Given the description of an element on the screen output the (x, y) to click on. 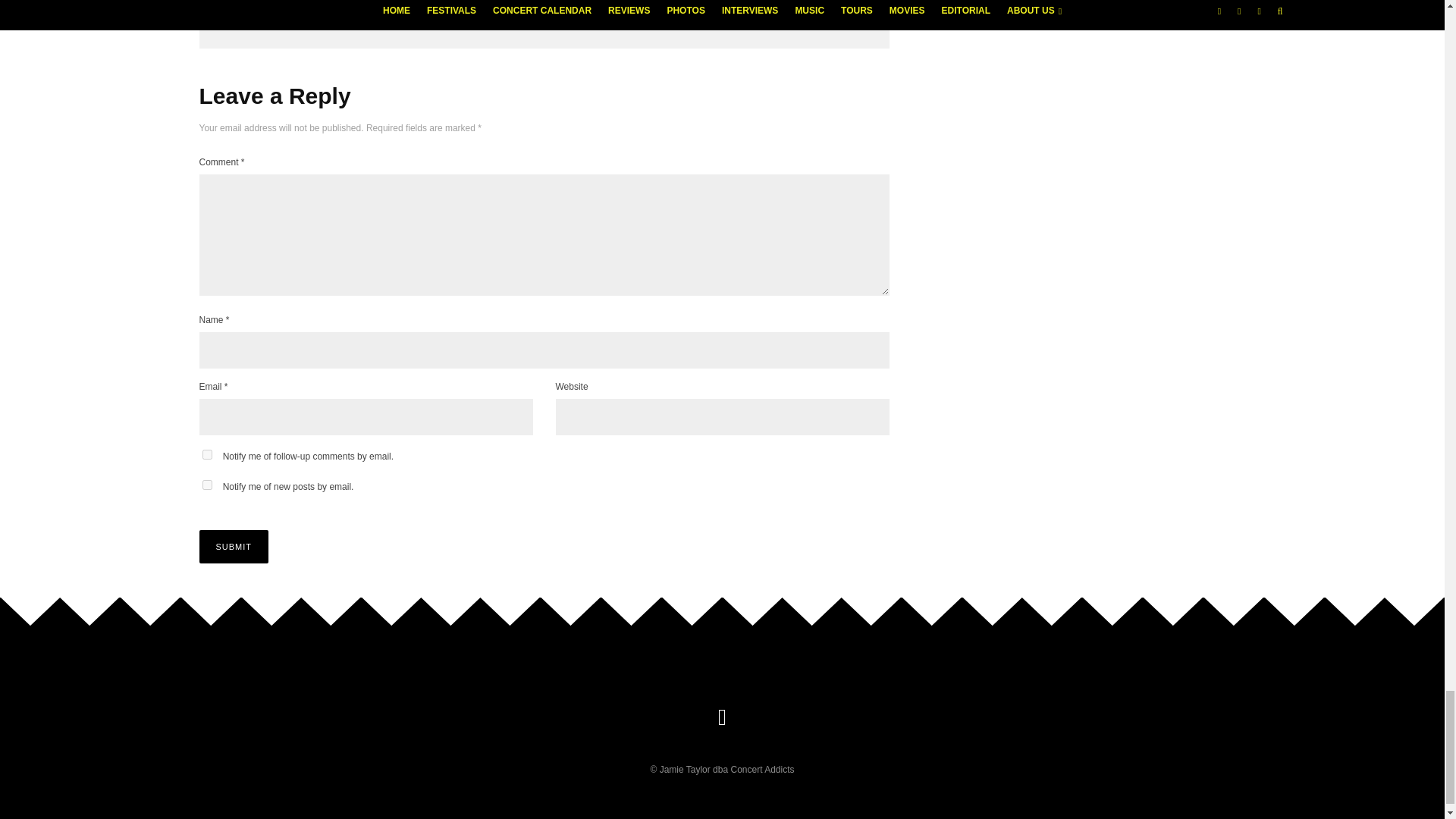
Submit (232, 546)
subscribe (206, 454)
subscribe (206, 484)
